Given the description of an element on the screen output the (x, y) to click on. 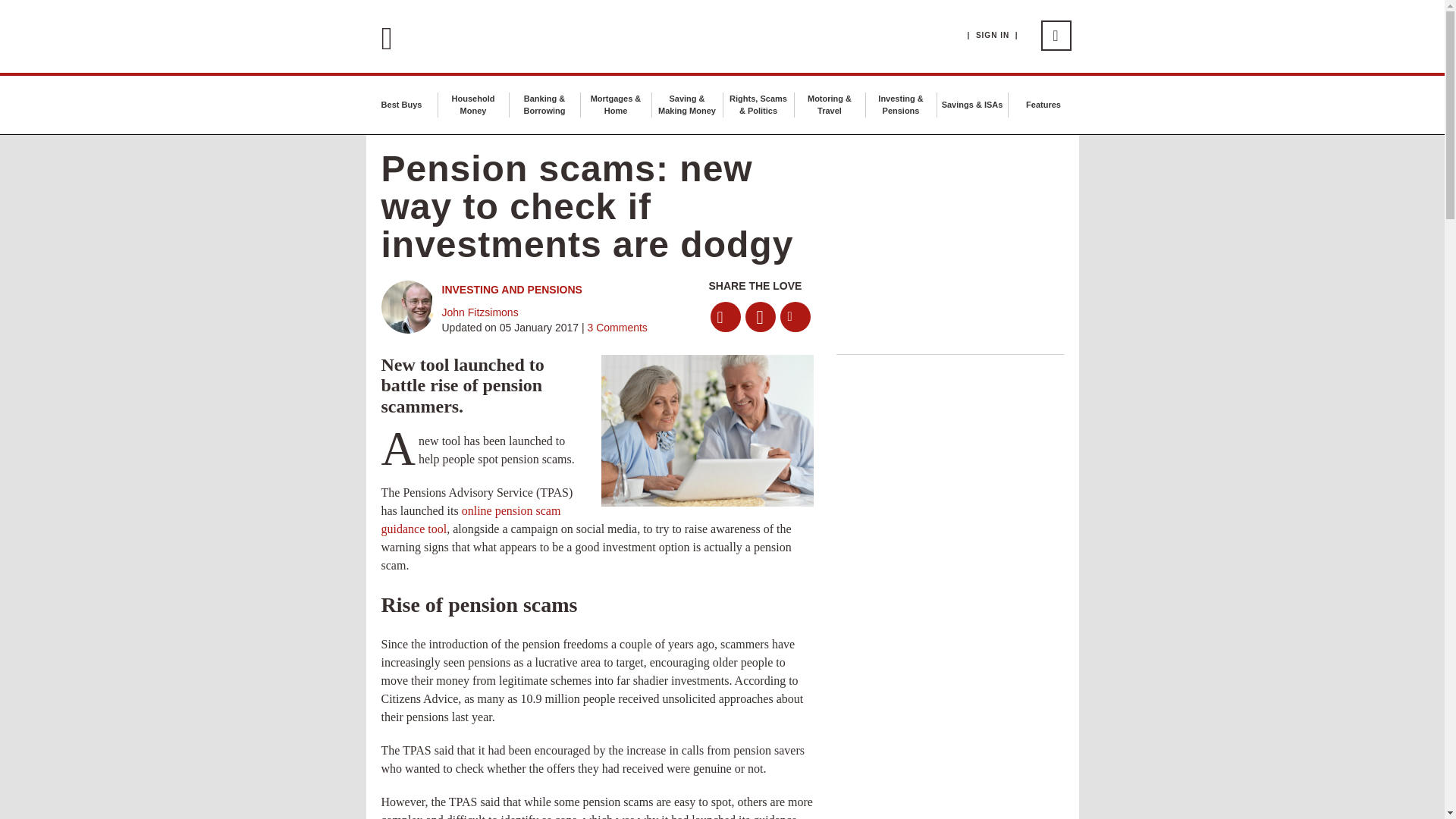
INVESTING AND PENSIONS (510, 289)
John Fitzsimons (479, 312)
Best Buys (401, 104)
Household Money (472, 104)
Features (1043, 104)
3 Comments (616, 327)
